Given the description of an element on the screen output the (x, y) to click on. 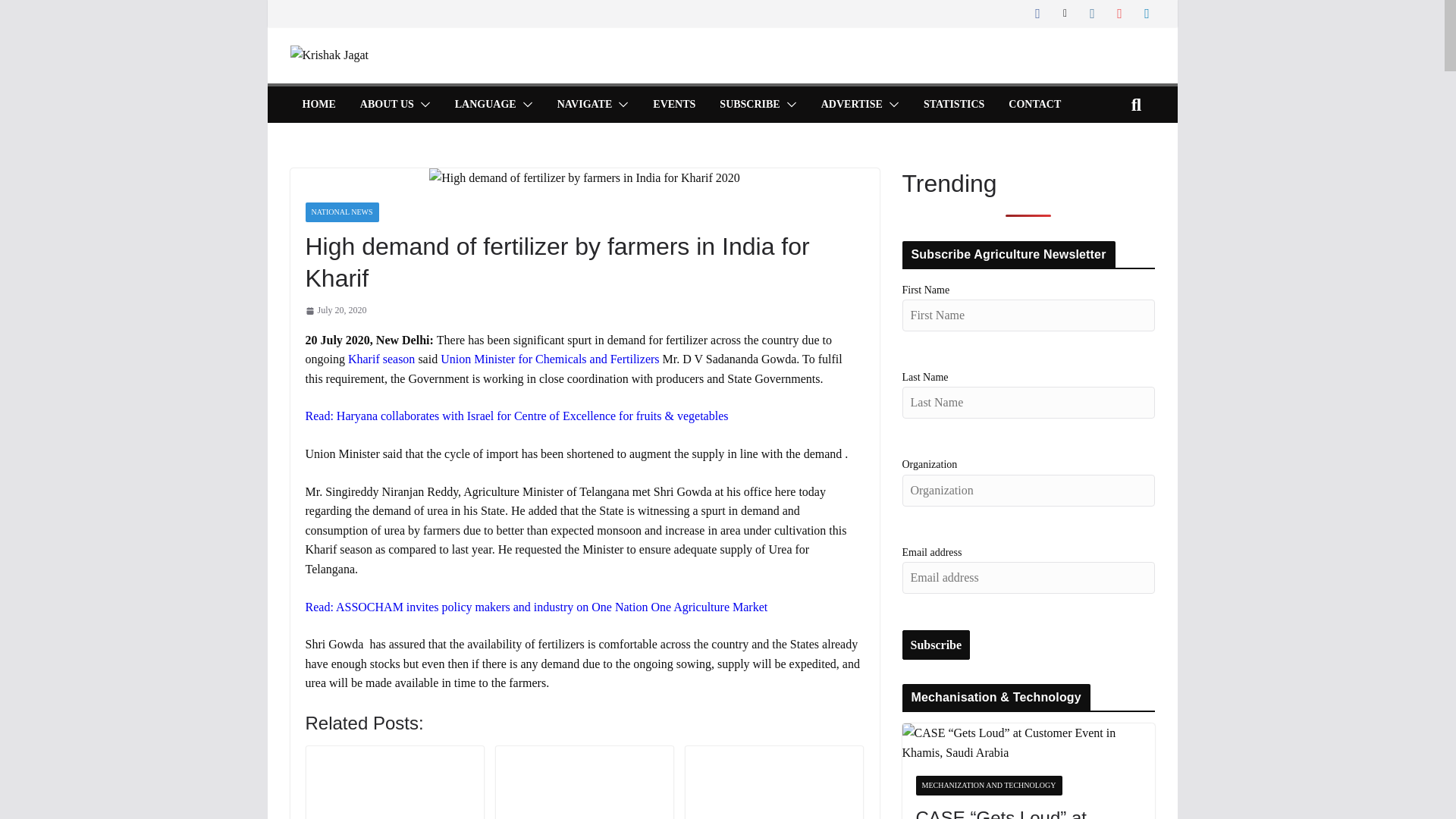
EVENTS (673, 104)
ABOUT US (386, 104)
Subscribe (936, 644)
HOME (317, 104)
SUBSCRIBE (748, 104)
NAVIGATE (584, 104)
6:03 pm (335, 310)
LANGUAGE (485, 104)
ADVERTISE (851, 104)
